Given the description of an element on the screen output the (x, y) to click on. 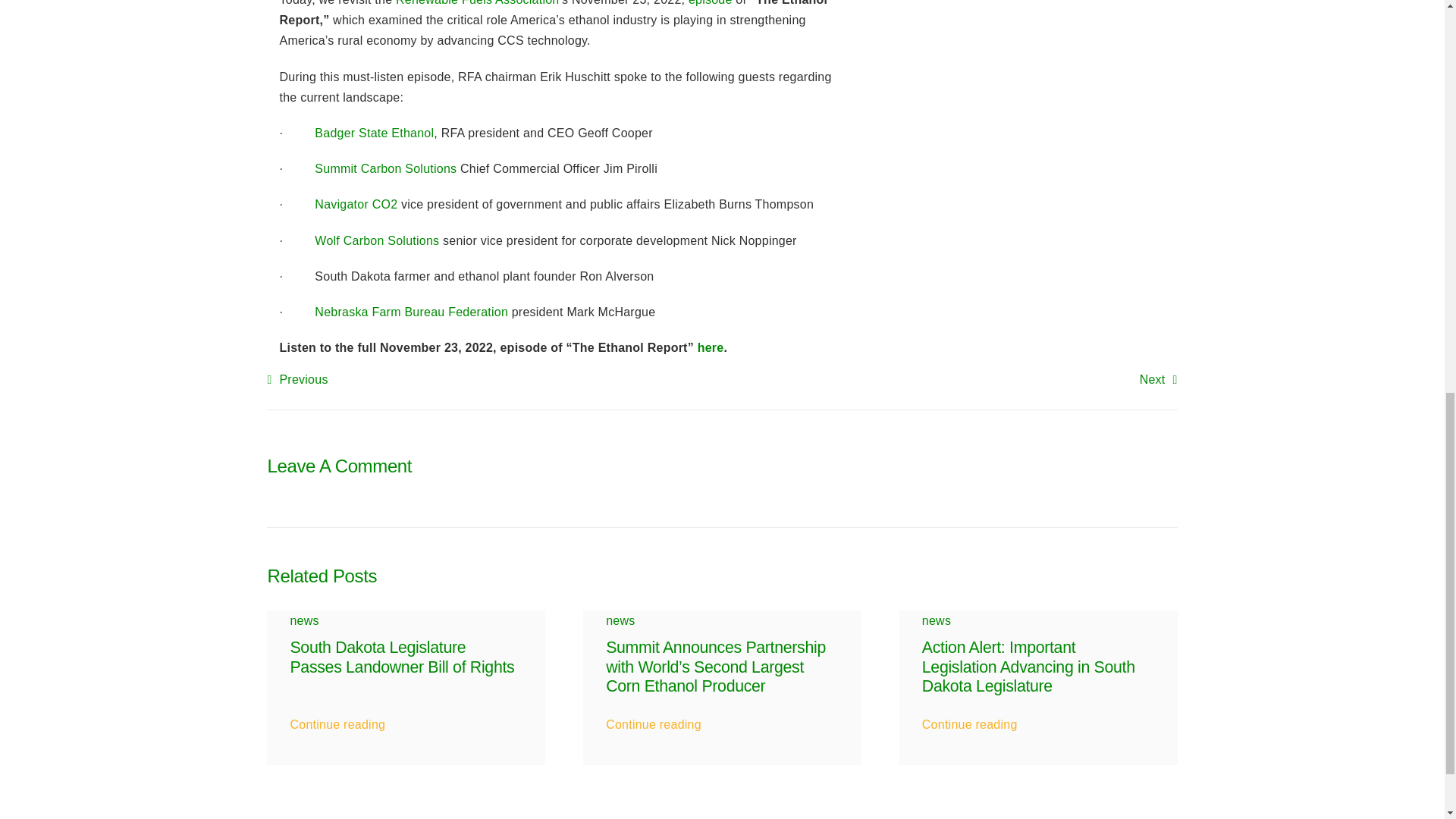
Continue reading (969, 719)
Continue reading (336, 719)
Wolf Carbon Solutions (376, 240)
Continue reading (653, 719)
news (619, 620)
episode (710, 2)
Next (1158, 379)
Badger State Ethanol (373, 132)
here (710, 347)
news (303, 620)
